Given the description of an element on the screen output the (x, y) to click on. 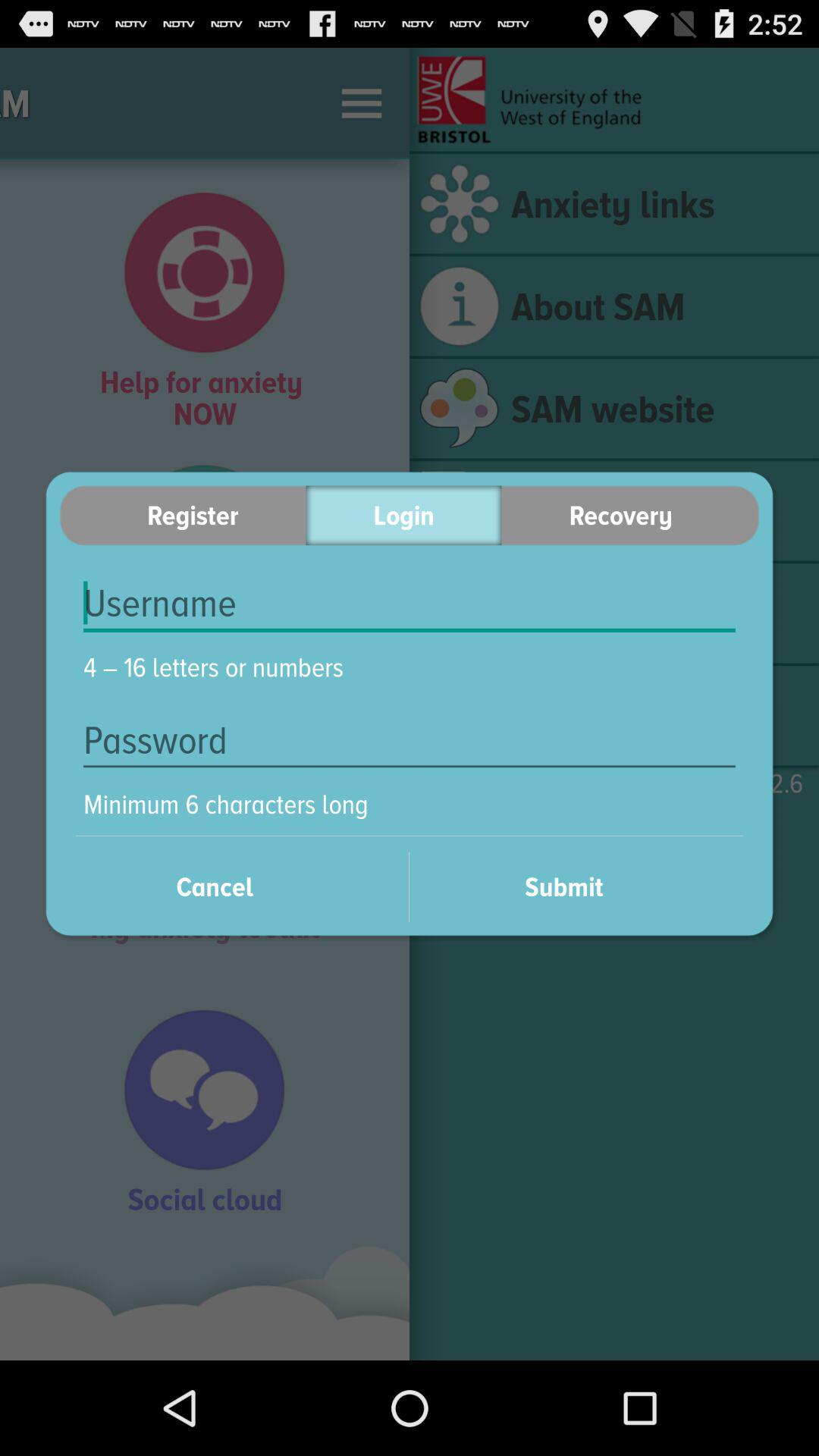
enter a user name (409, 603)
